Given the description of an element on the screen output the (x, y) to click on. 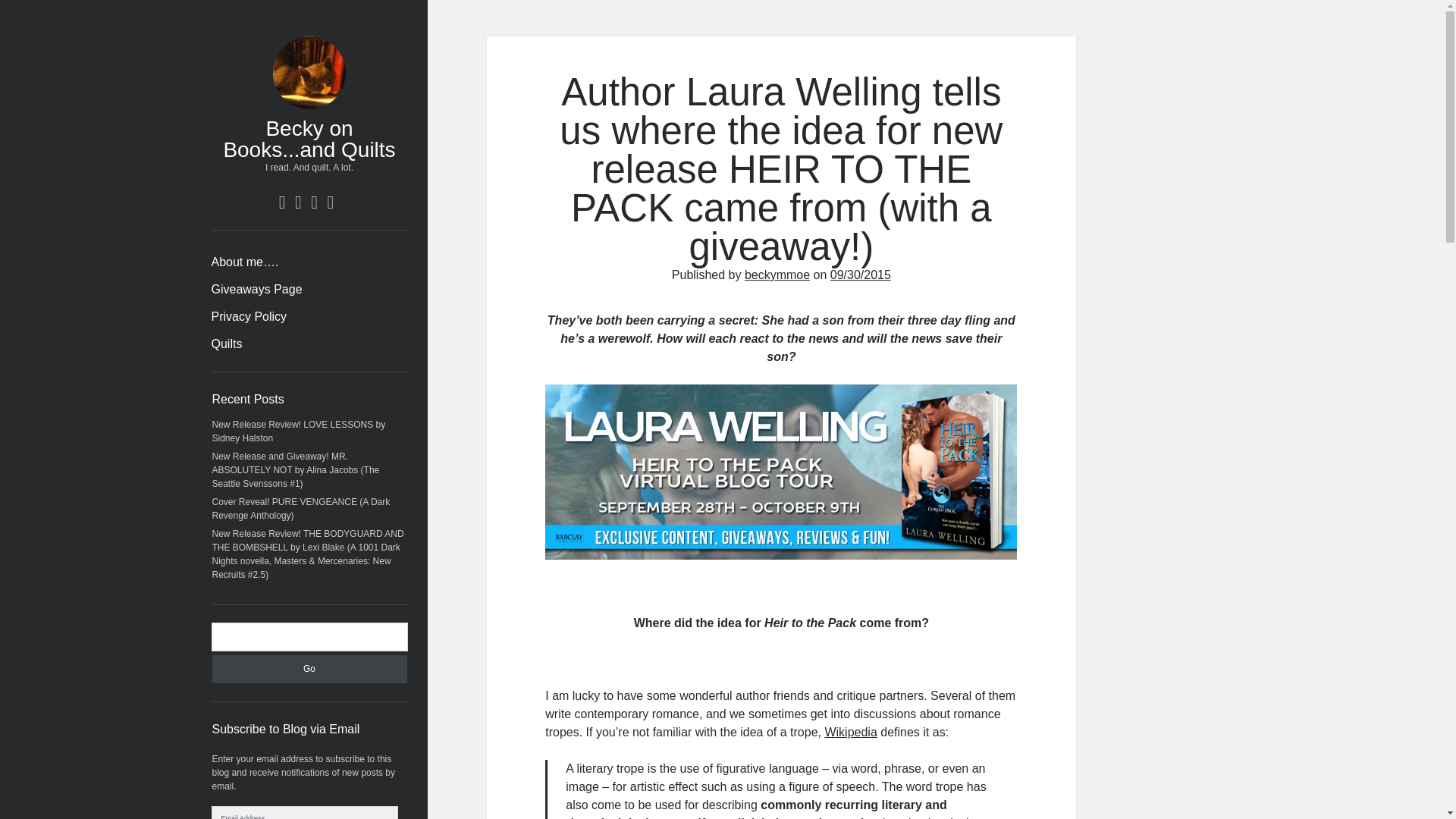
Privacy Policy (248, 316)
Go (309, 669)
Quilts (226, 343)
Search for: (309, 636)
Go (309, 669)
Becky on Books...and Quilts (308, 139)
Go (309, 669)
Giveaways Page (256, 289)
New Release Review! LOVE LESSONS by Sidney Halston (298, 431)
